Given the description of an element on the screen output the (x, y) to click on. 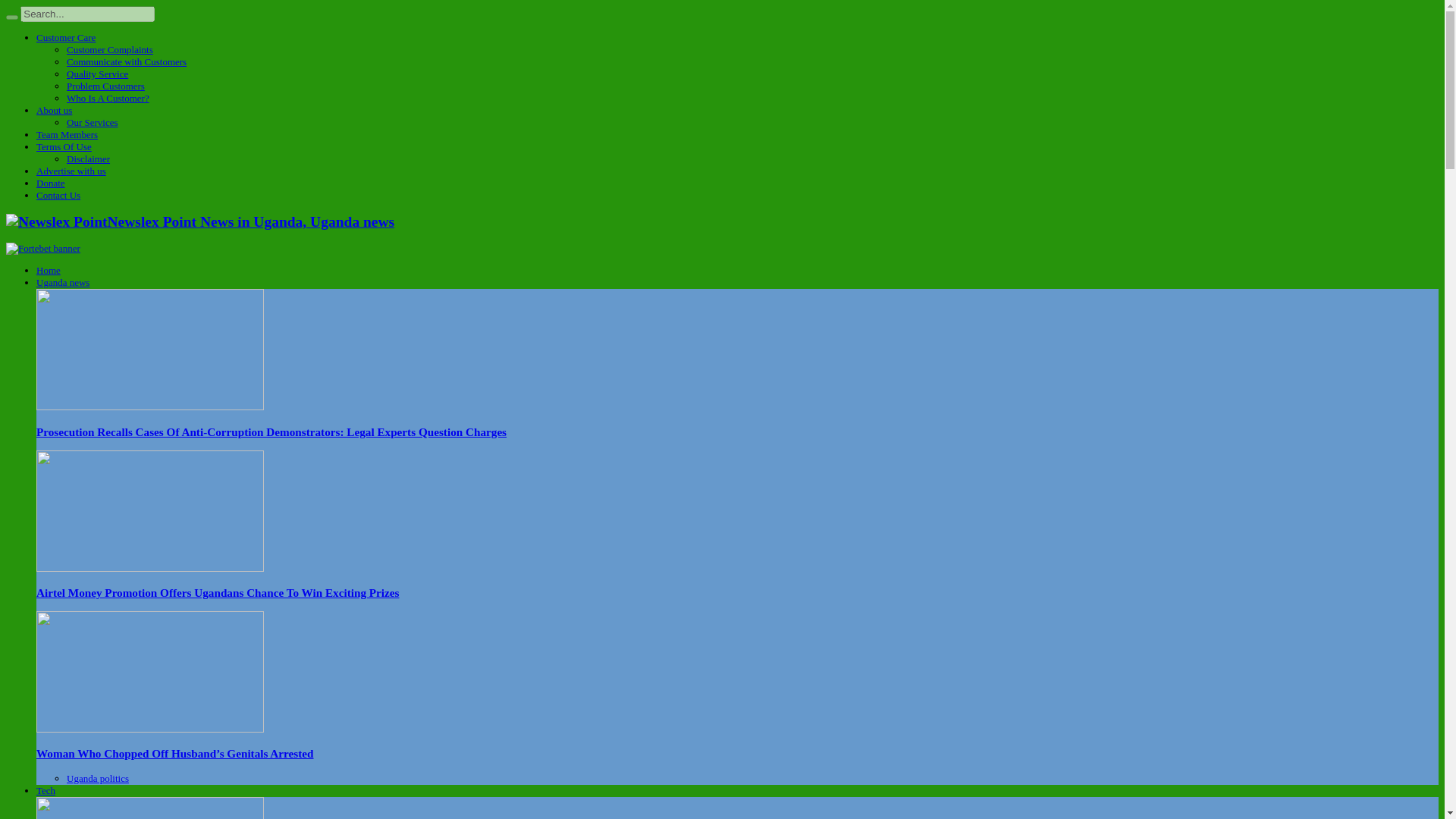
Quality Service (97, 73)
Newslex Point News in Uganda, Uganda news (199, 221)
Communicate with Customers (126, 61)
Our Services (91, 122)
Who Is A Customer? (107, 98)
Search... (87, 13)
Problem Customers (105, 85)
Search (11, 17)
Uganda politics (97, 778)
Tech (45, 790)
